Given the description of an element on the screen output the (x, y) to click on. 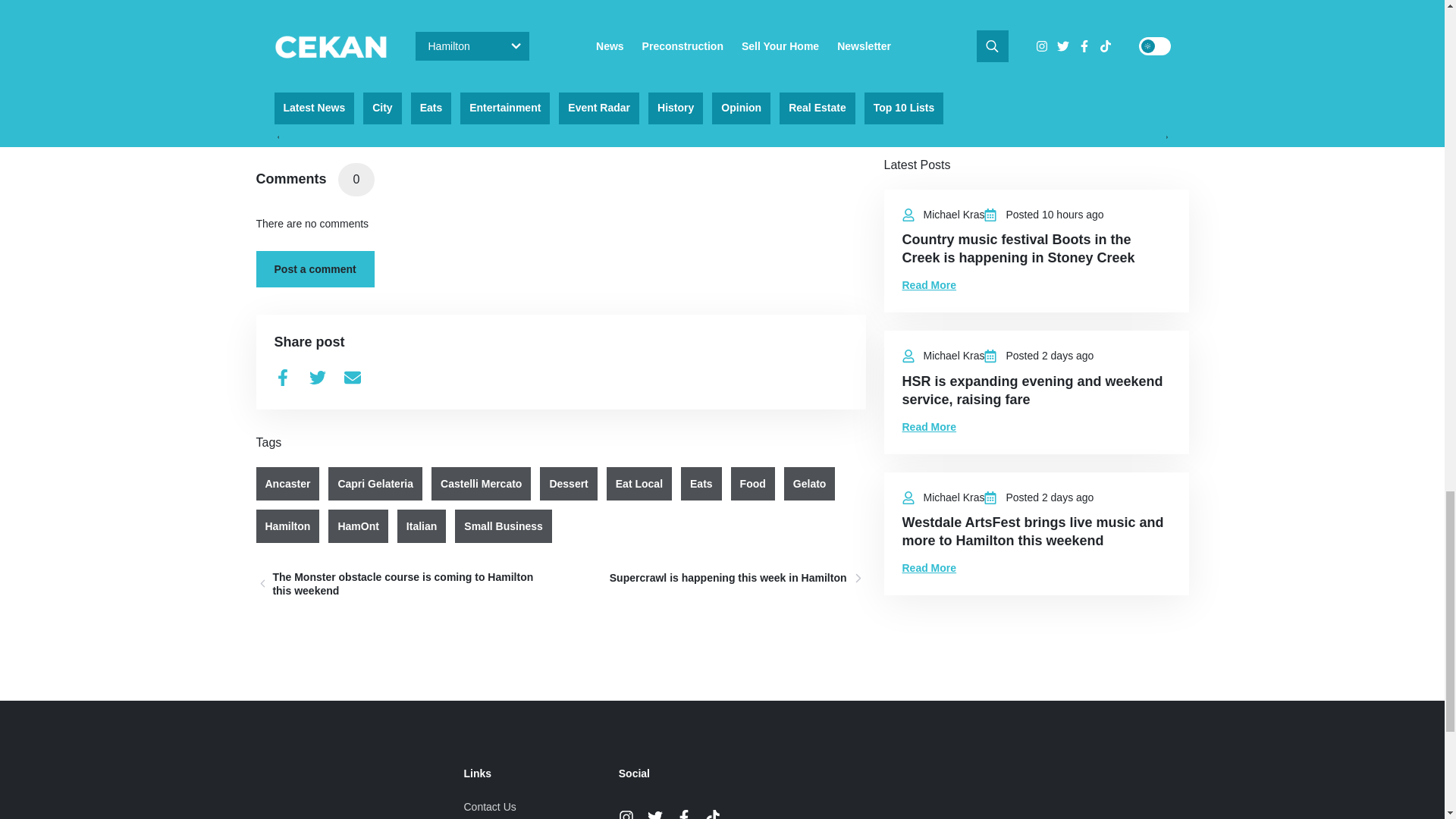
Ancaster (288, 483)
Post a comment (315, 268)
Castelli Mercato (480, 483)
Capri Gelateria (375, 483)
social media (389, 87)
Dessert (568, 483)
